Given the description of an element on the screen output the (x, y) to click on. 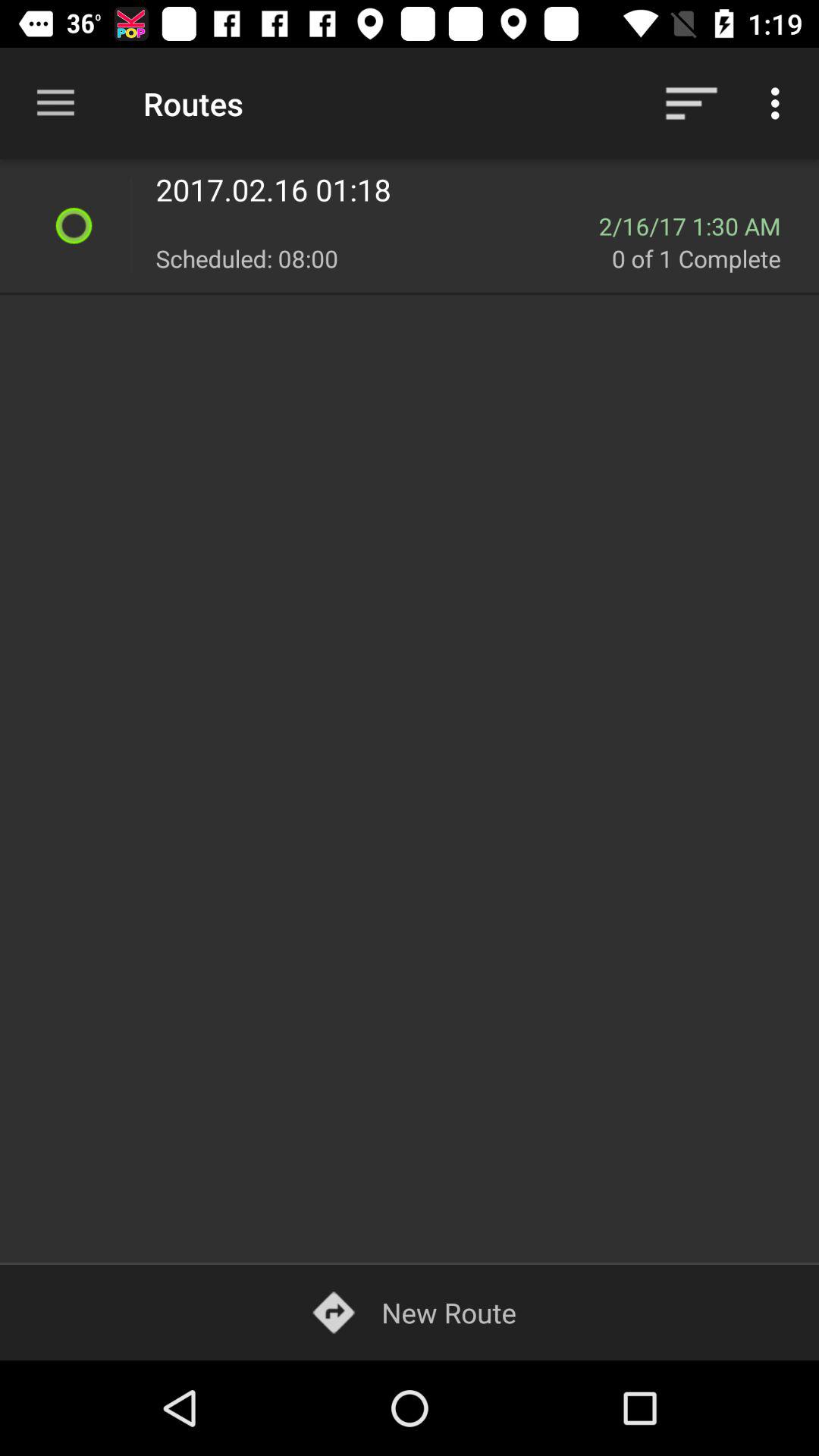
click icon next to 0 of 1 (383, 258)
